Given the description of an element on the screen output the (x, y) to click on. 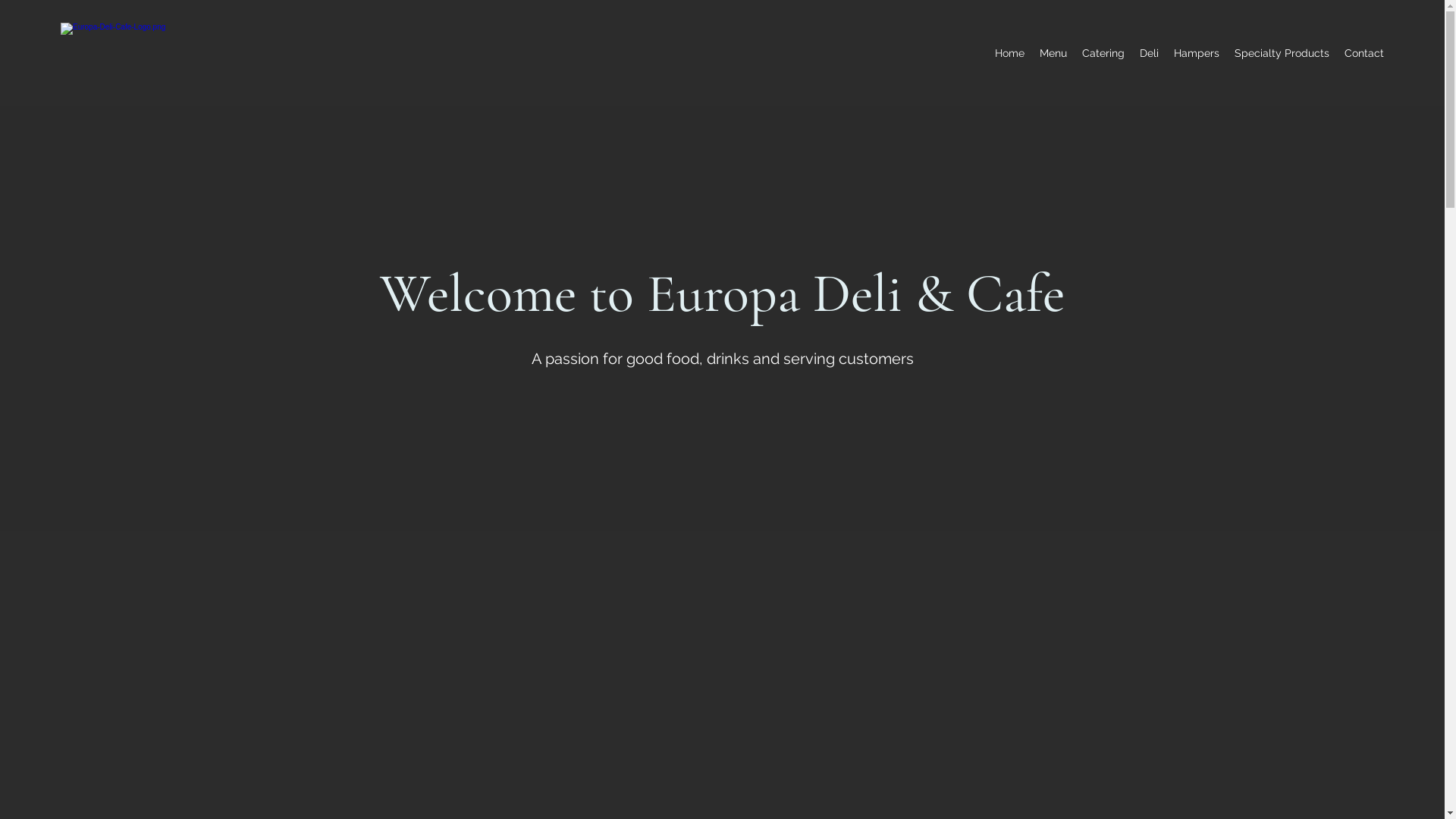
Catering Element type: text (1103, 52)
Deli Element type: text (1149, 52)
Specialty Products Element type: text (1281, 52)
Contact Element type: text (1363, 52)
Home Element type: text (1009, 52)
Hampers Element type: text (1196, 52)
Menu Element type: text (1053, 52)
